Given the description of an element on the screen output the (x, y) to click on. 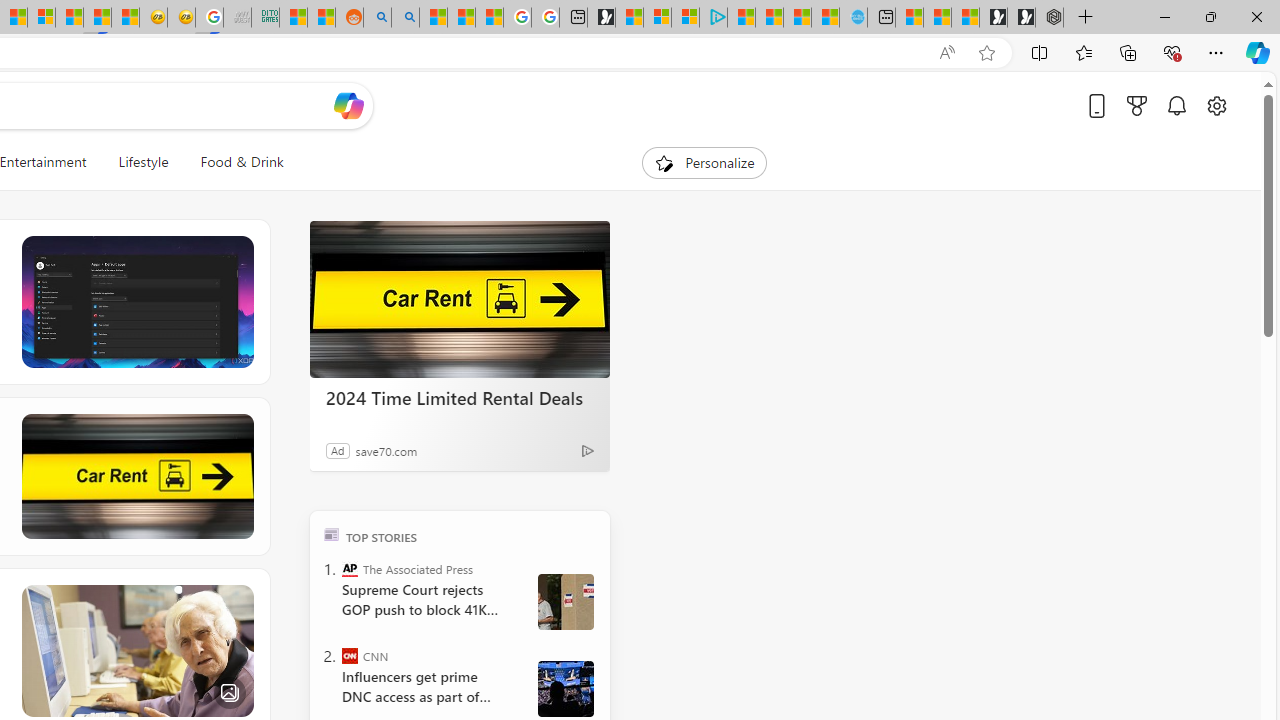
save70.com (386, 450)
